Given the description of an element on the screen output the (x, y) to click on. 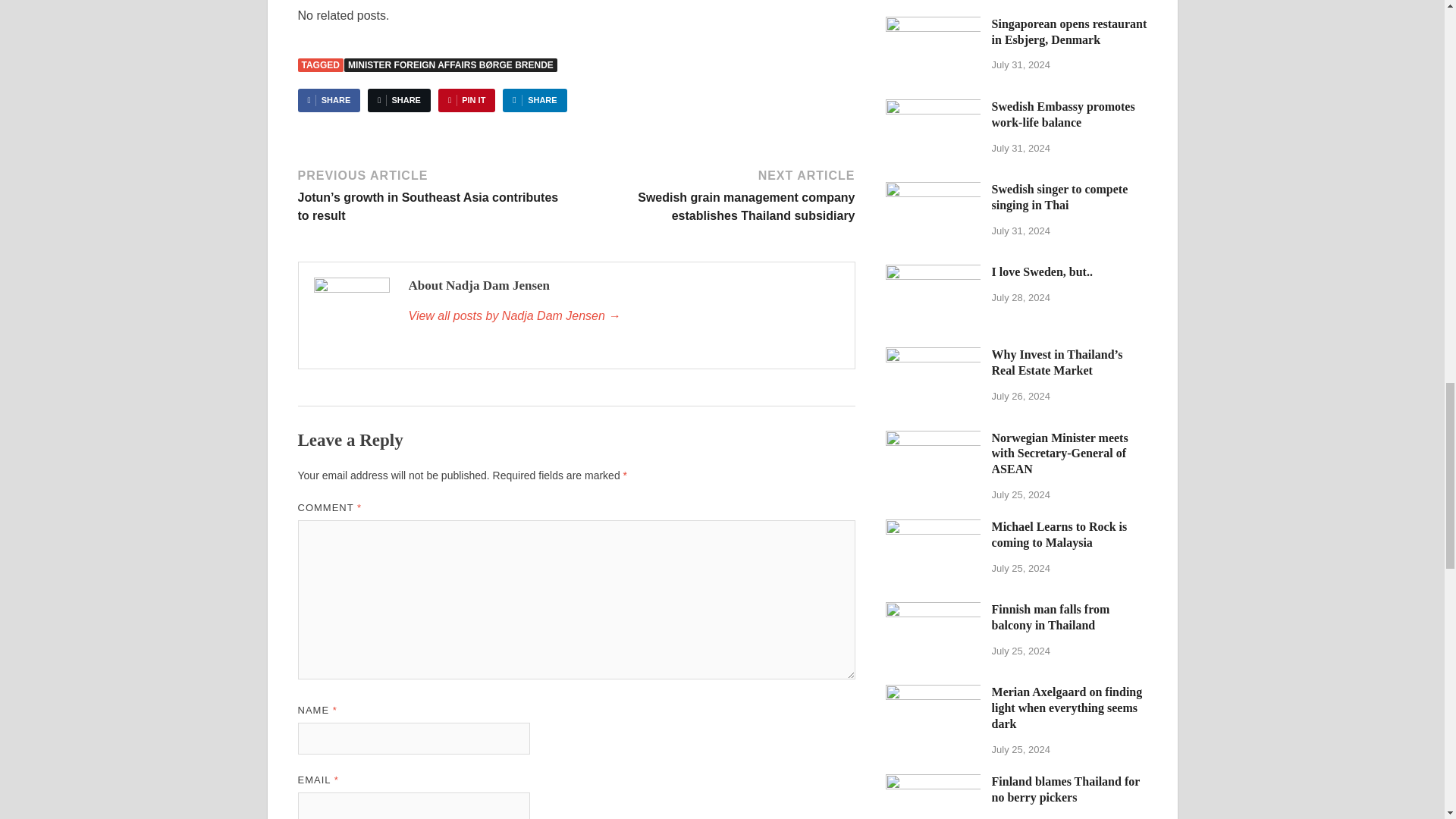
I love Sweden, but.. (932, 273)
Finnish man falls from balcony in Thailand (932, 610)
Merian Axelgaard on finding light when everything seems dark (932, 693)
Singaporean opens restaurant in Esbjerg, Denmark (932, 24)
Michael Learns to Rock is coming to Malaysia (932, 527)
Swedish Embassy promotes work-life balance (932, 107)
Nadja Dam Jensen (622, 316)
Finland blames Thailand for no berry pickers (932, 782)
Norwegian Minister meets with Secretary-General of ASEAN (932, 439)
Swedish singer to compete singing in Thai (932, 190)
